Given the description of an element on the screen output the (x, y) to click on. 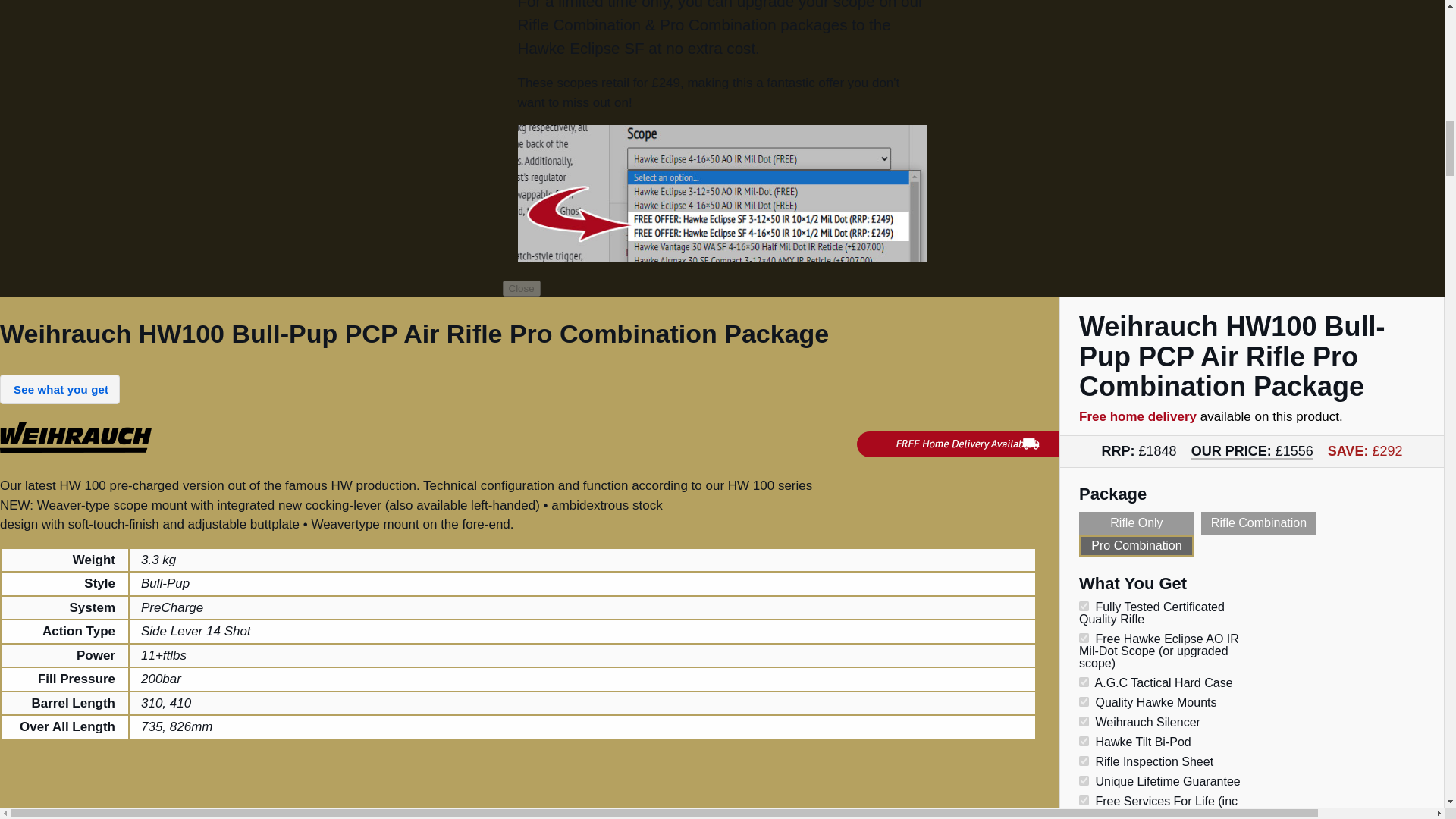
on (1083, 637)
on (1083, 741)
on (1083, 780)
on (1083, 800)
on (1083, 701)
on (1083, 721)
on (1083, 605)
See what you get (59, 389)
on (1083, 682)
on (1083, 760)
